Given the description of an element on the screen output the (x, y) to click on. 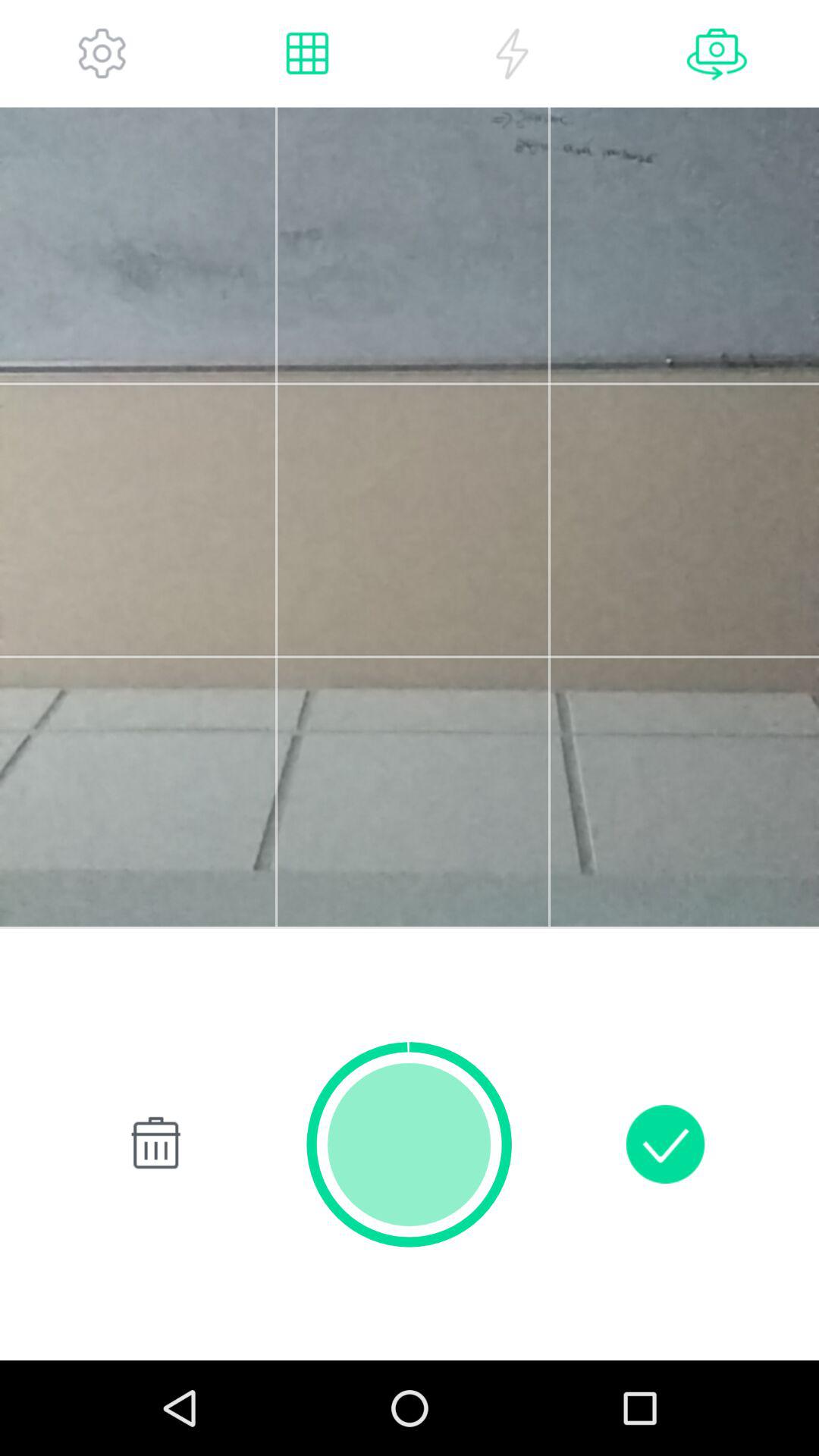
delete screenshot (152, 1144)
